Given the description of an element on the screen output the (x, y) to click on. 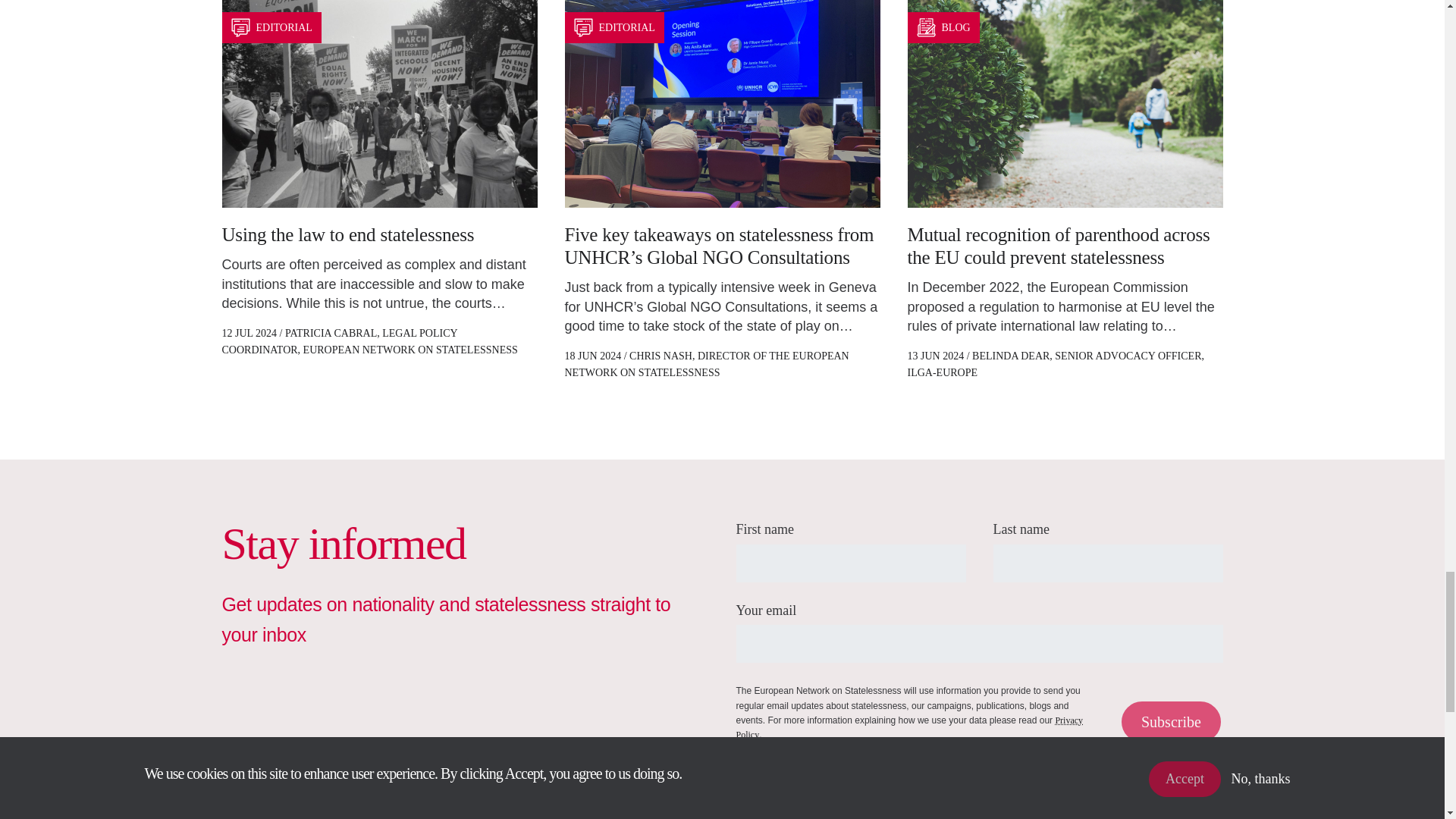
Subscribe (1171, 721)
